Given the description of an element on the screen output the (x, y) to click on. 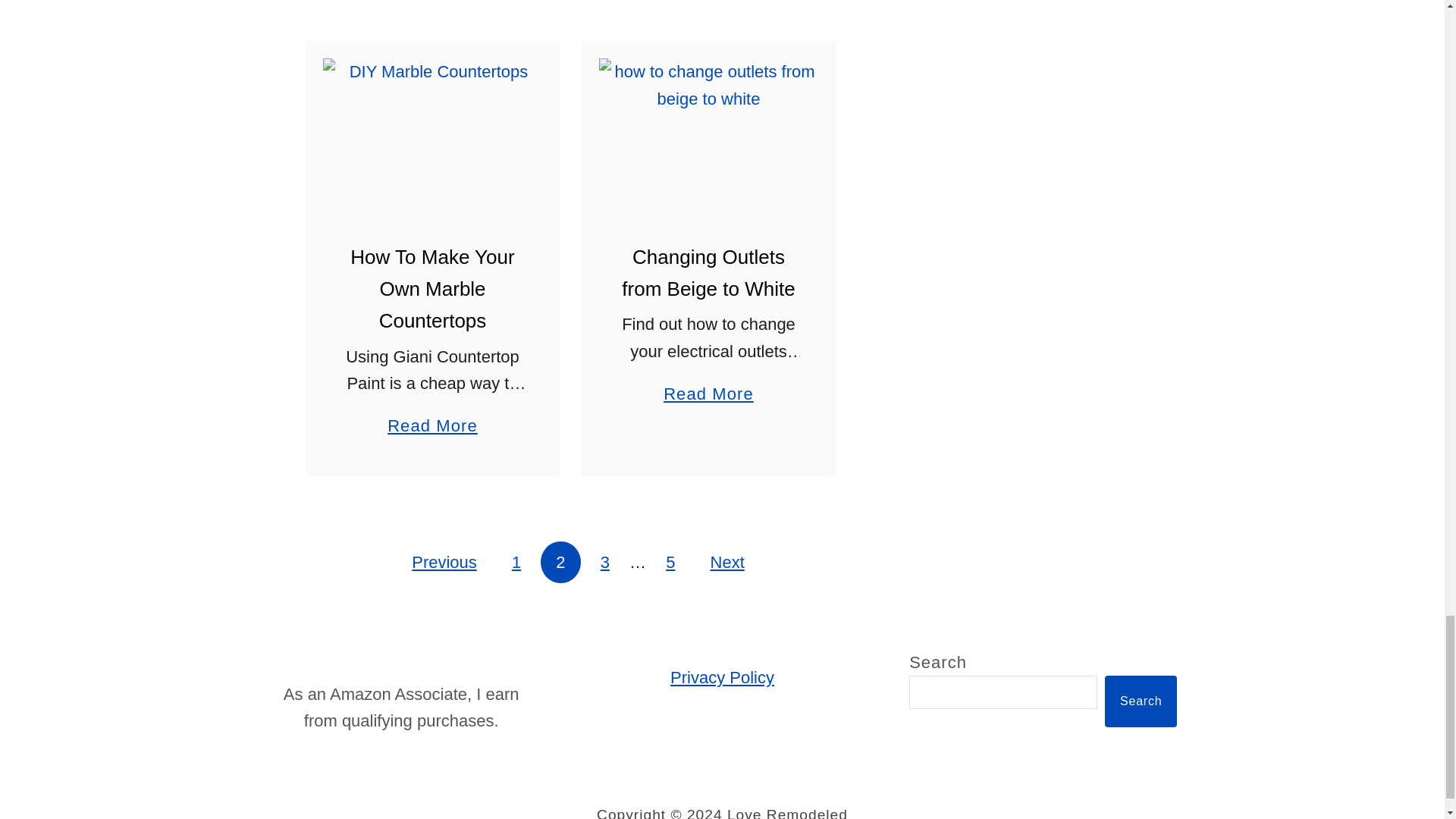
Changing Outlets from Beige to White (708, 130)
How To Make Your Own Marble Countertops (432, 130)
